Given the description of an element on the screen output the (x, y) to click on. 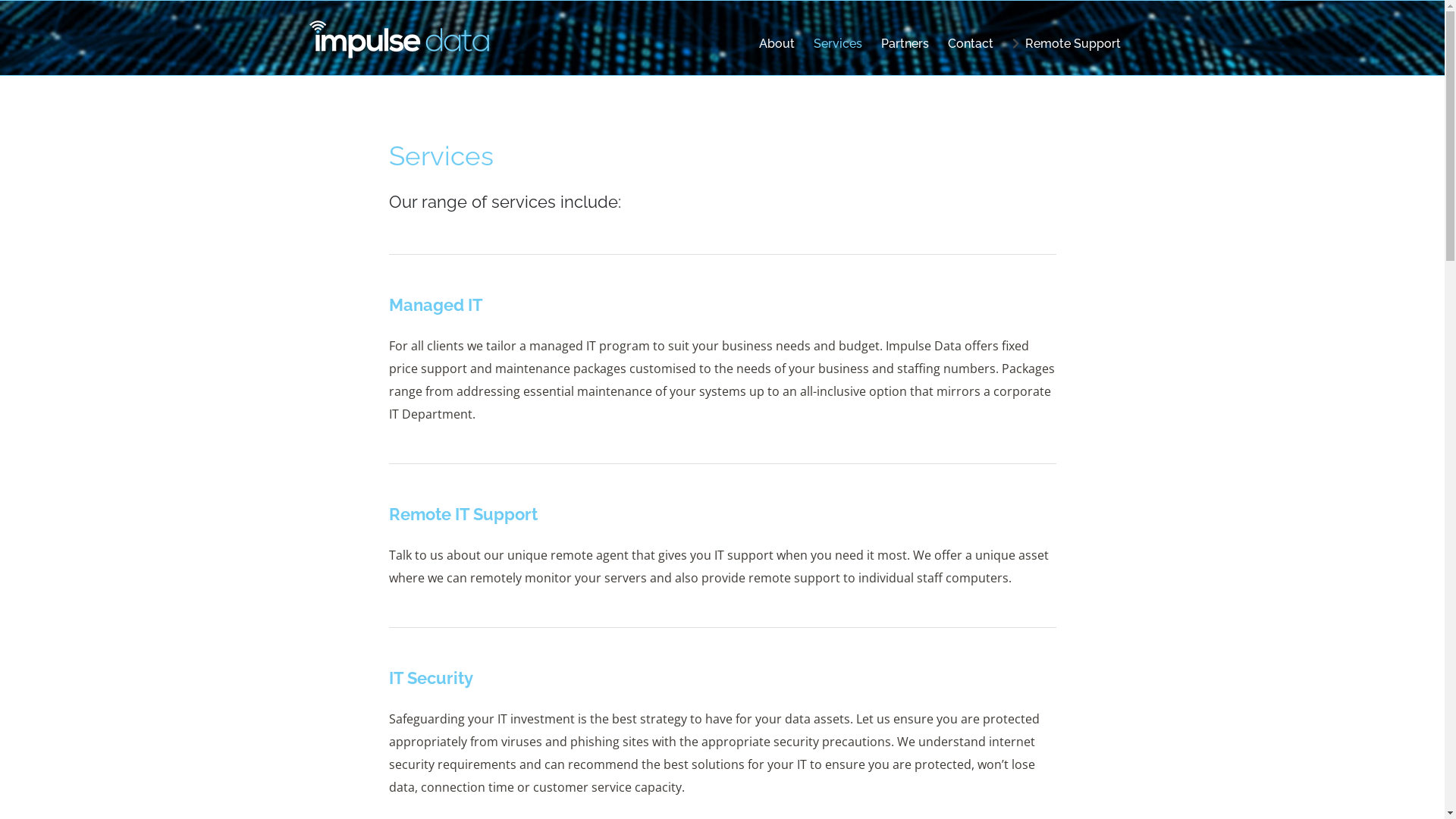
About Element type: text (776, 43)
Contact Element type: text (970, 43)
Services Element type: text (837, 43)
Partners Element type: text (904, 43)
Remote Support Element type: text (1066, 43)
